Given the description of an element on the screen output the (x, y) to click on. 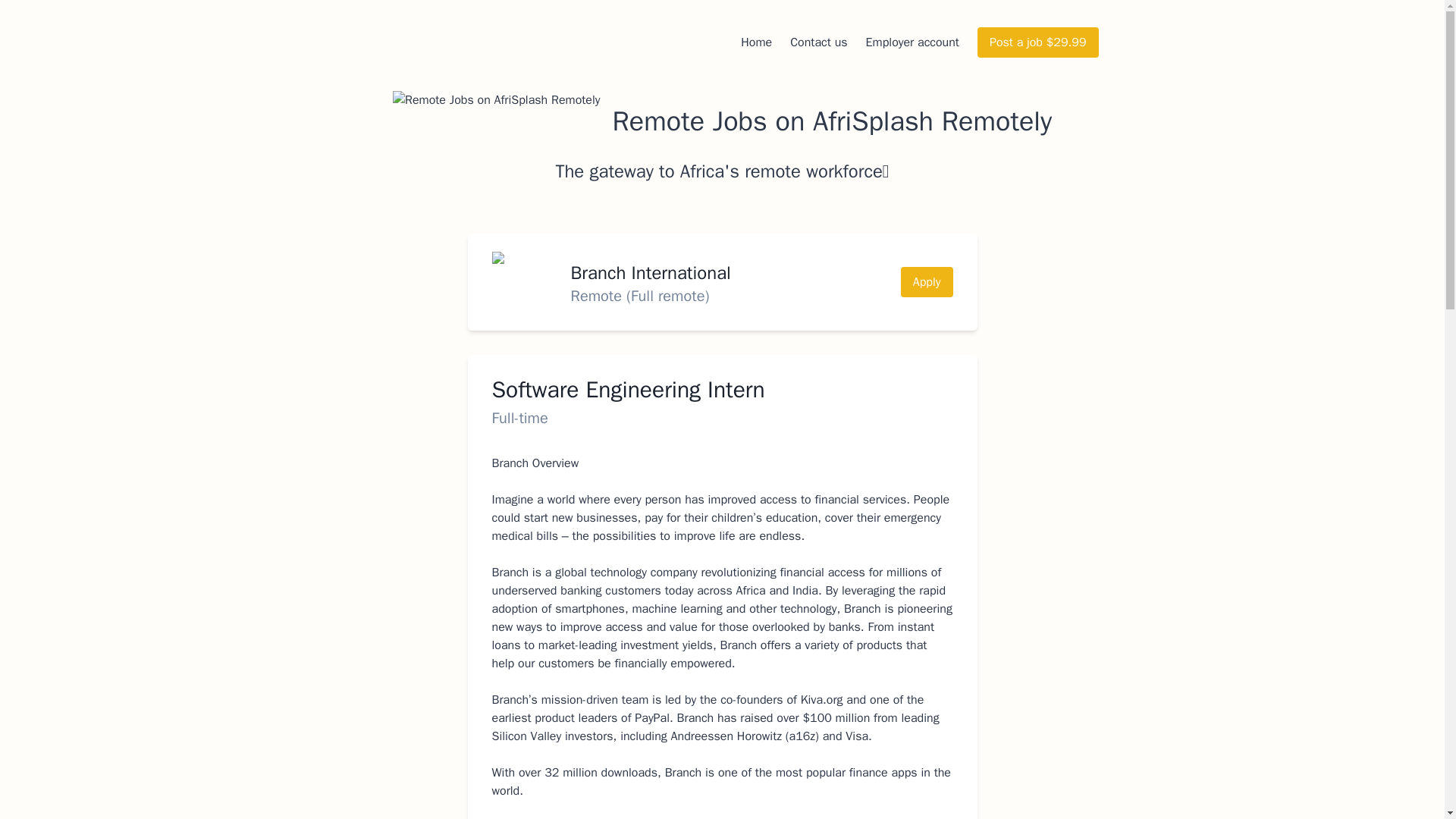
Go to the jobs list (722, 120)
Remote Jobs on AfriSplash Remotely (496, 120)
Employer account (912, 42)
Remote Jobs on AfriSplash Remotely (722, 120)
Contact us (818, 42)
Apply (927, 281)
Home (756, 42)
